Given the description of an element on the screen output the (x, y) to click on. 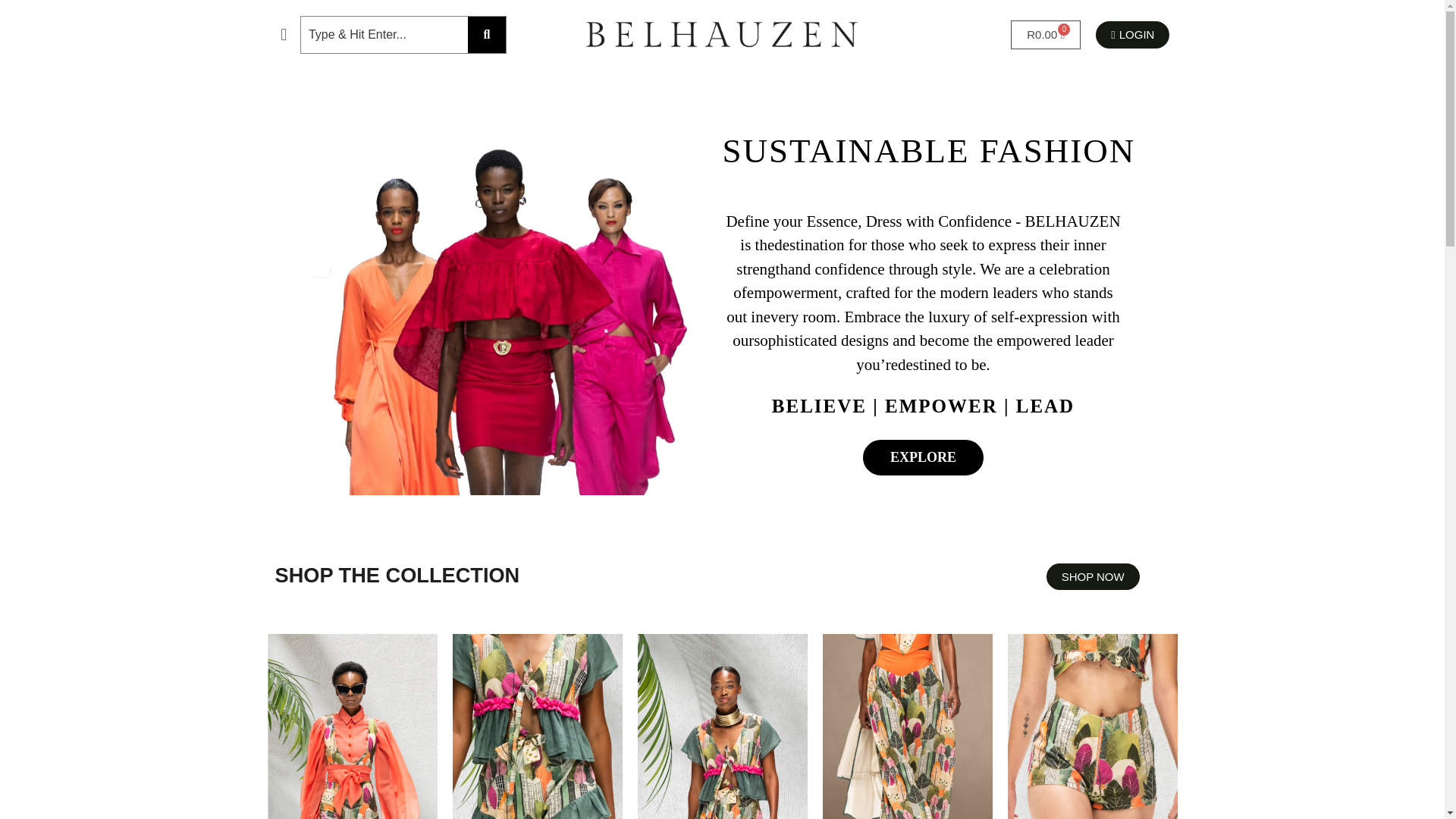
EXPLORE (923, 457)
Search (384, 34)
LOGIN (1132, 34)
SHOP NOW (1045, 34)
